Given the description of an element on the screen output the (x, y) to click on. 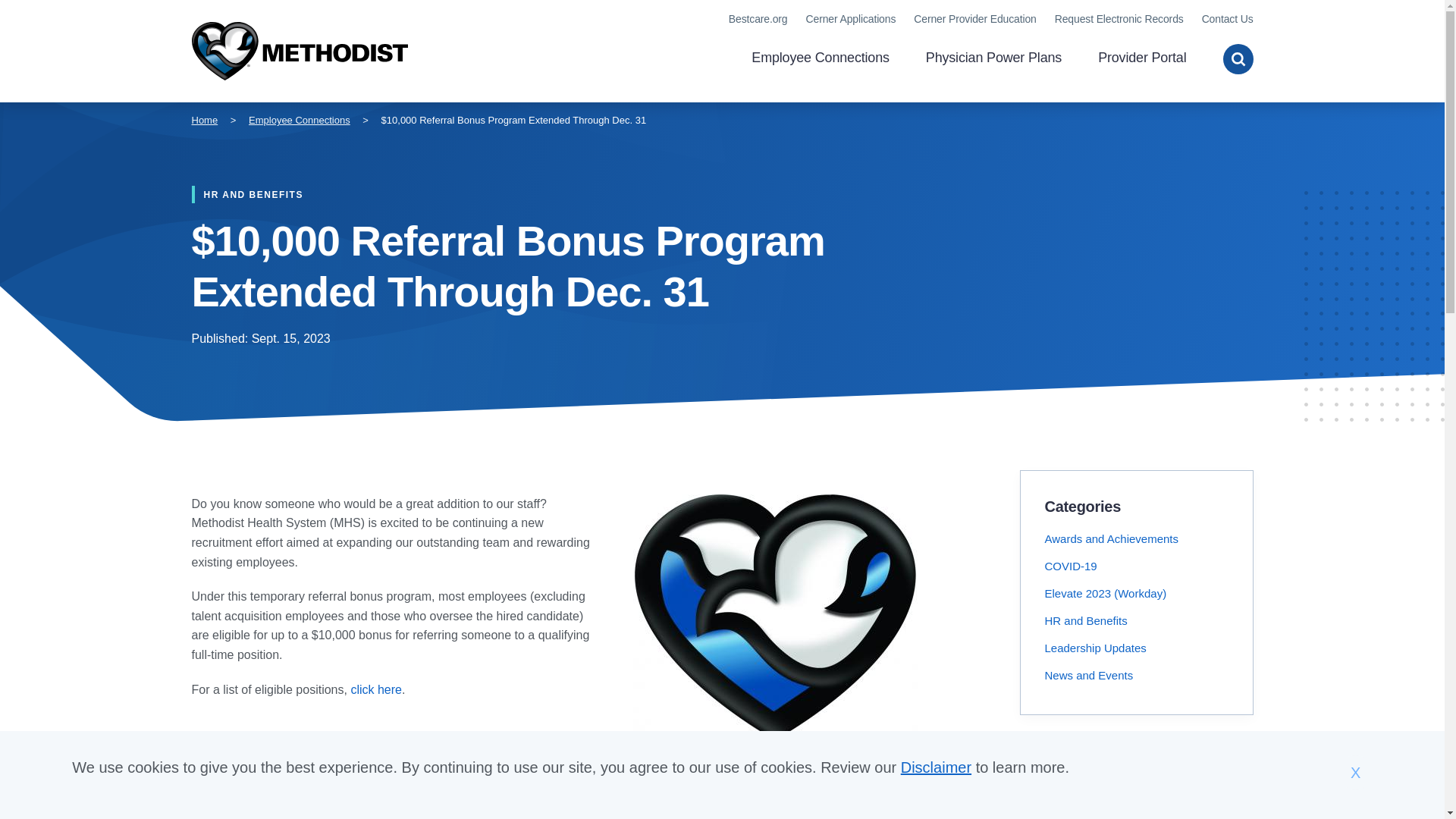
Awards and Achievements (1112, 538)
Physician Power Plans (993, 59)
Methodist Health System (298, 51)
News and Events (1089, 675)
Cerner Provider Education (974, 19)
Contact Us (1227, 19)
Bestcare.org (758, 19)
Toggle Site Search (1237, 59)
Home (203, 120)
HR and Benefits (1085, 620)
Employee Connections (299, 120)
Home (298, 51)
Cerner Applications (851, 19)
Leadership Updates (1096, 647)
